Given the description of an element on the screen output the (x, y) to click on. 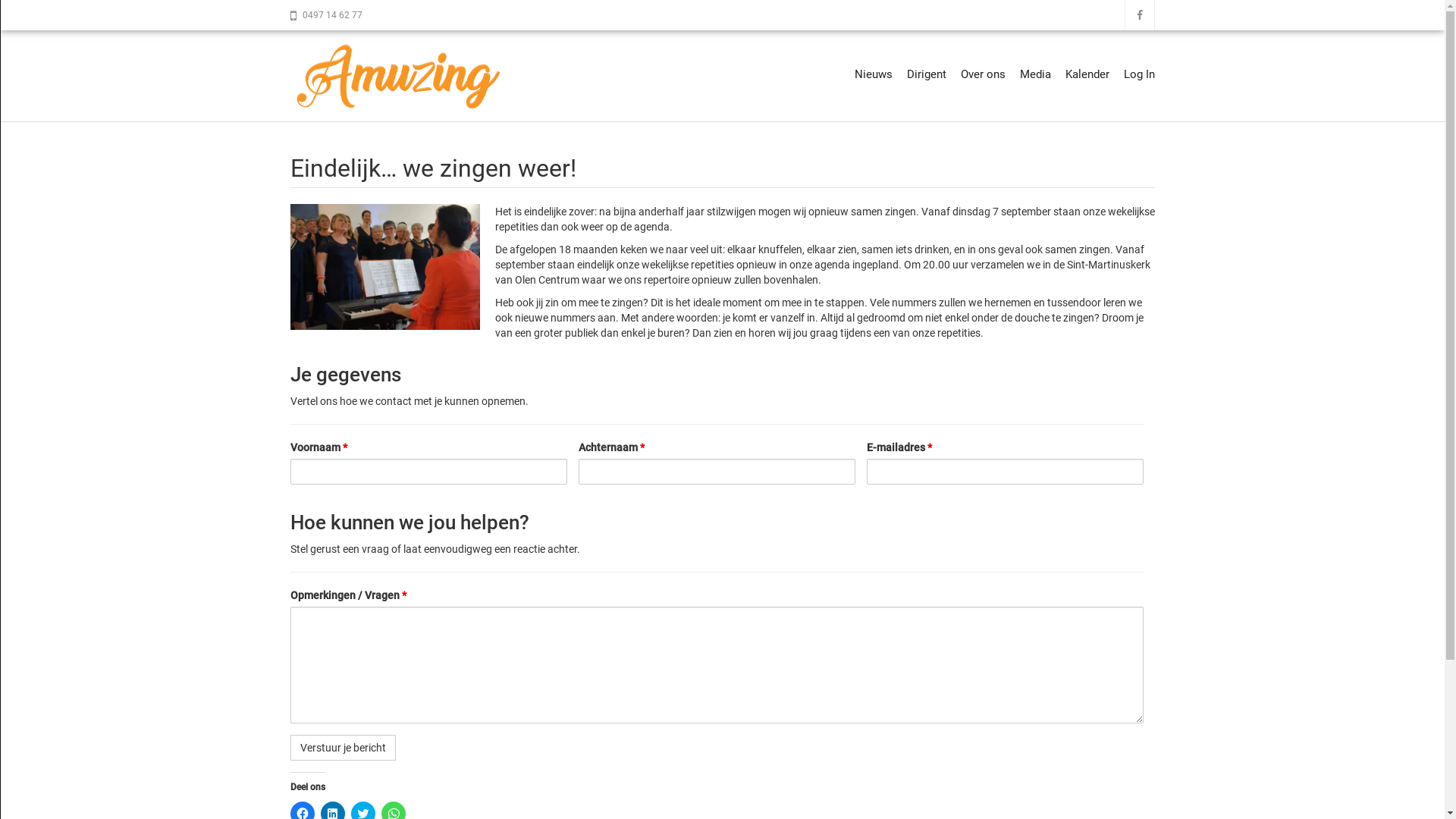
Verstuur je bericht Element type: text (342, 747)
Dirigent Element type: text (926, 74)
Over ons Element type: text (982, 74)
Log In Element type: text (1138, 74)
Nieuws Element type: text (872, 74)
Sluiten en bevestigen Element type: text (1369, 788)
Kalender Element type: text (1086, 74)
0497 14 62 77 Element type: text (329, 15)
Media Element type: text (1034, 74)
